Given the description of an element on the screen output the (x, y) to click on. 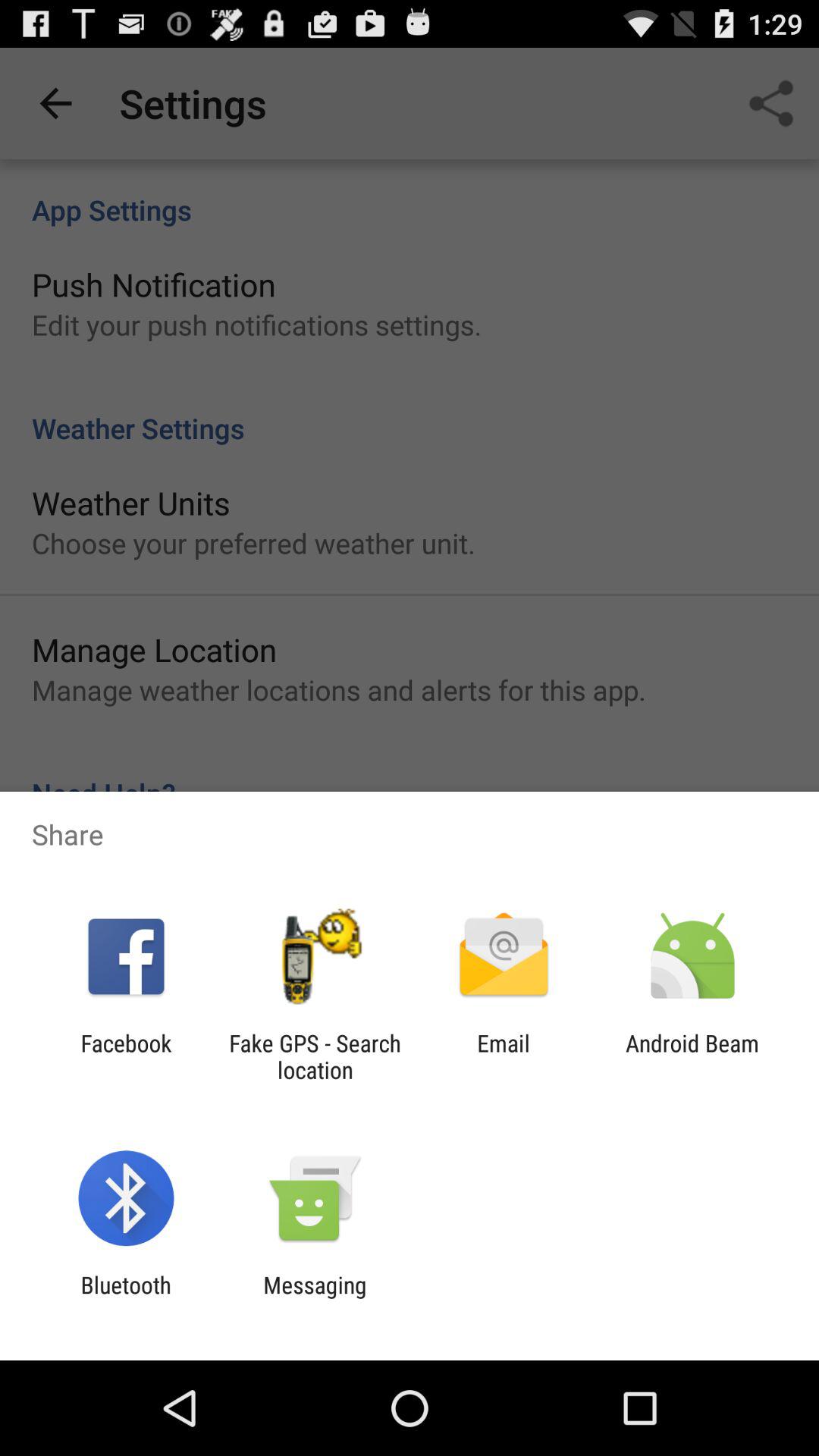
press icon to the right of bluetooth item (314, 1298)
